Given the description of an element on the screen output the (x, y) to click on. 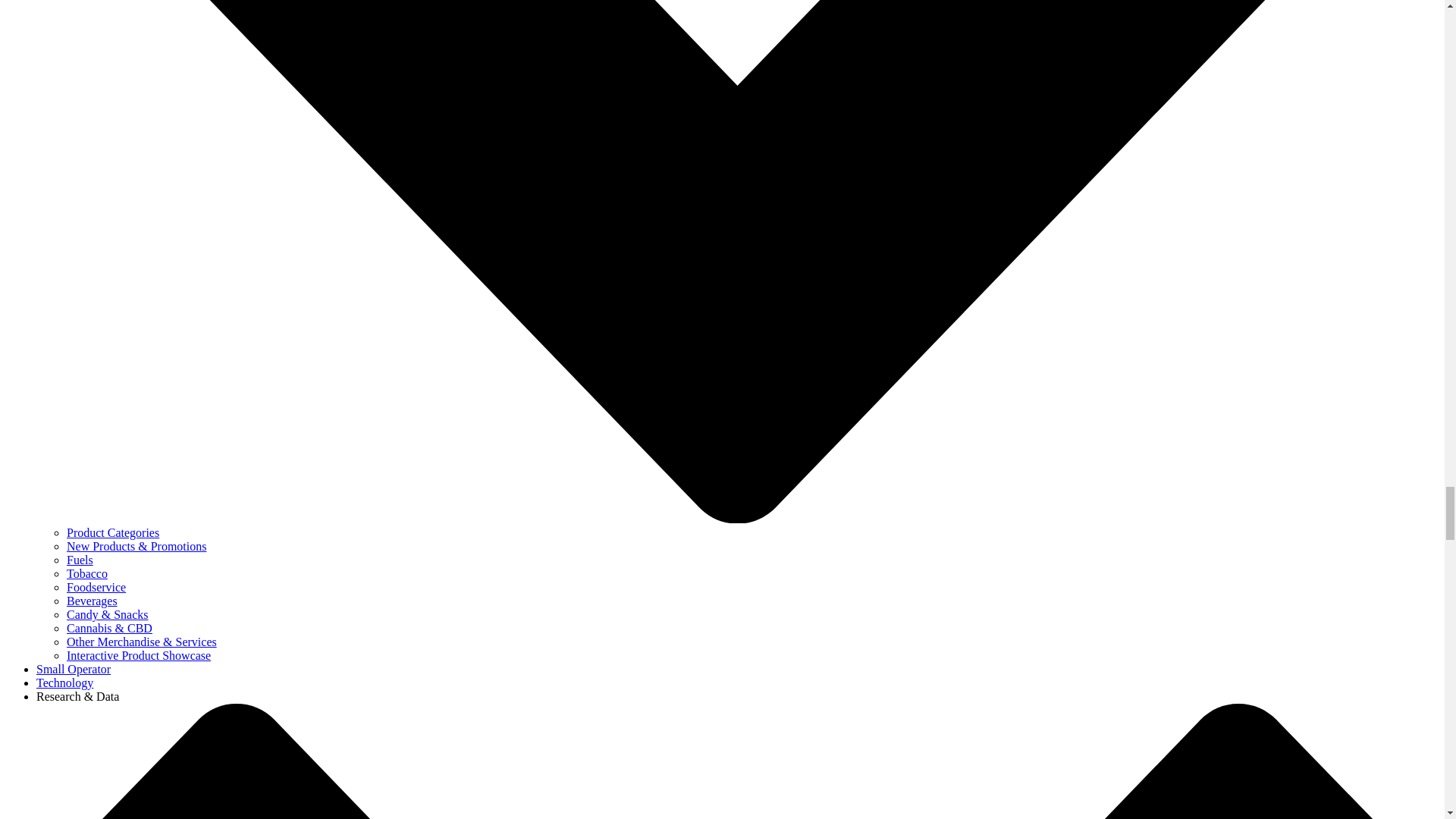
Fuels (79, 559)
Small Operator (73, 668)
Foodservice (95, 586)
Tobacco (86, 573)
Interactive Product Showcase (138, 655)
Technology (64, 682)
Product Categories (112, 532)
Beverages (91, 600)
